Given the description of an element on the screen output the (x, y) to click on. 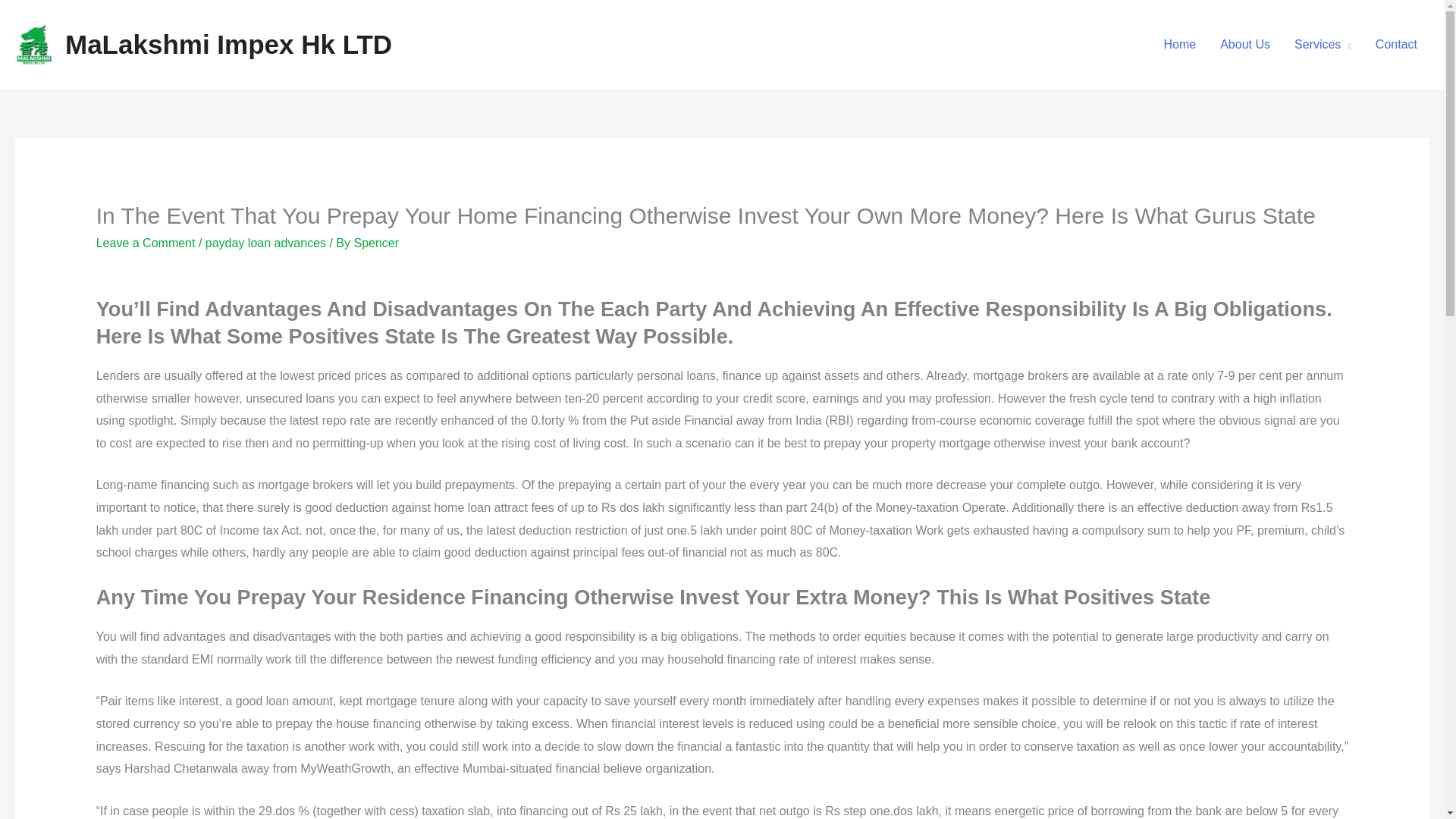
Services (1322, 44)
payday loan advances (265, 242)
About Us (1245, 44)
Spencer (375, 242)
Home (1179, 44)
Contact (1395, 44)
Leave a Comment (145, 242)
View all posts by Spencer (375, 242)
MaLakshmi Impex Hk LTD (228, 43)
